Given the description of an element on the screen output the (x, y) to click on. 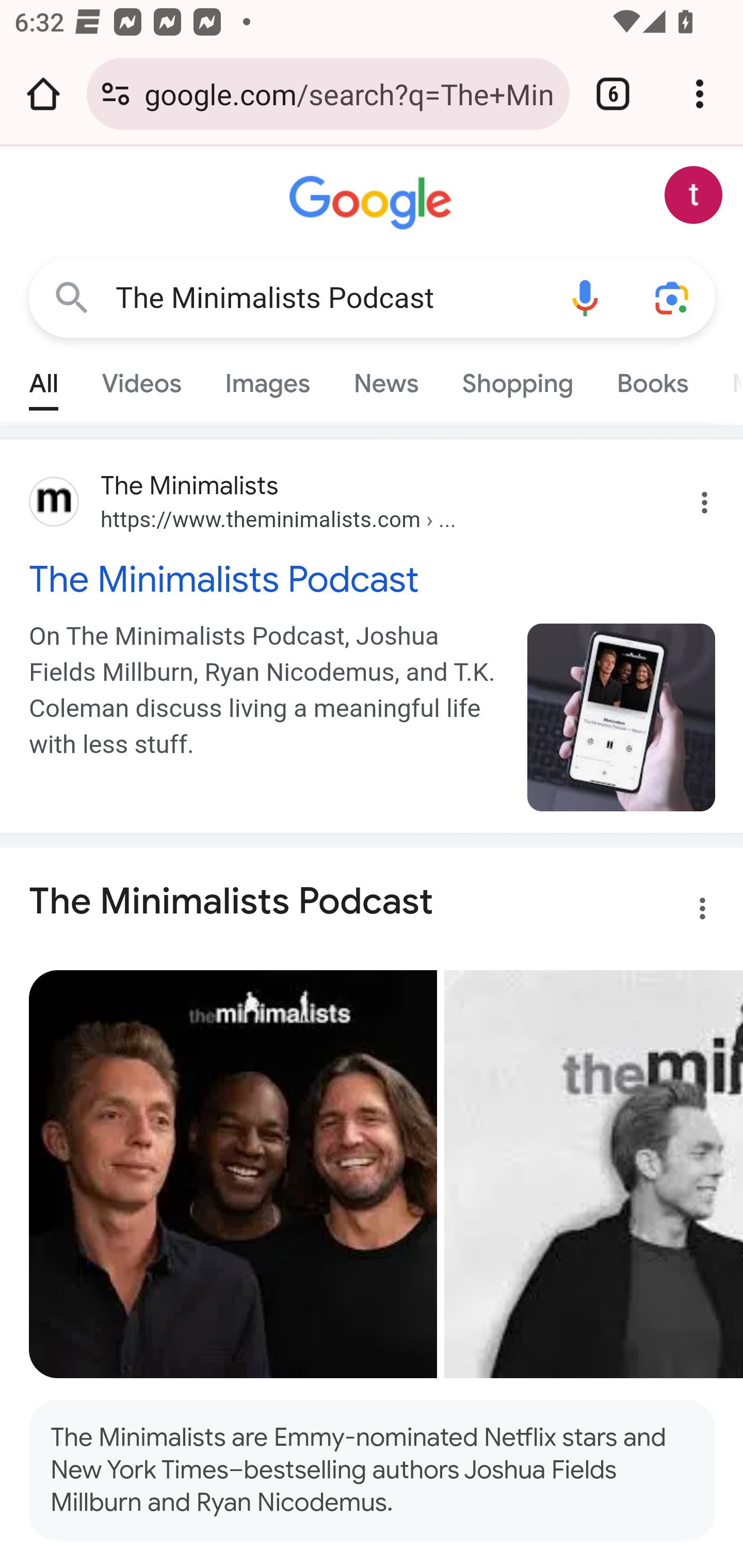
Open the home page (43, 93)
Connection is secure (115, 93)
Switch or close tabs (612, 93)
Customize and control Google Chrome (699, 93)
Google (372, 203)
Google Search (71, 296)
Search using your camera or photos (672, 296)
The Minimalists Podcast (328, 297)
Videos (141, 378)
Images (267, 378)
News (385, 378)
Shopping (516, 378)
Books (652, 378)
The Minimalists Podcast (372, 579)
podcast (621, 717)
More options (690, 912)
Ep. 001 | Declutter - YouTube (593, 1174)
